Given the description of an element on the screen output the (x, y) to click on. 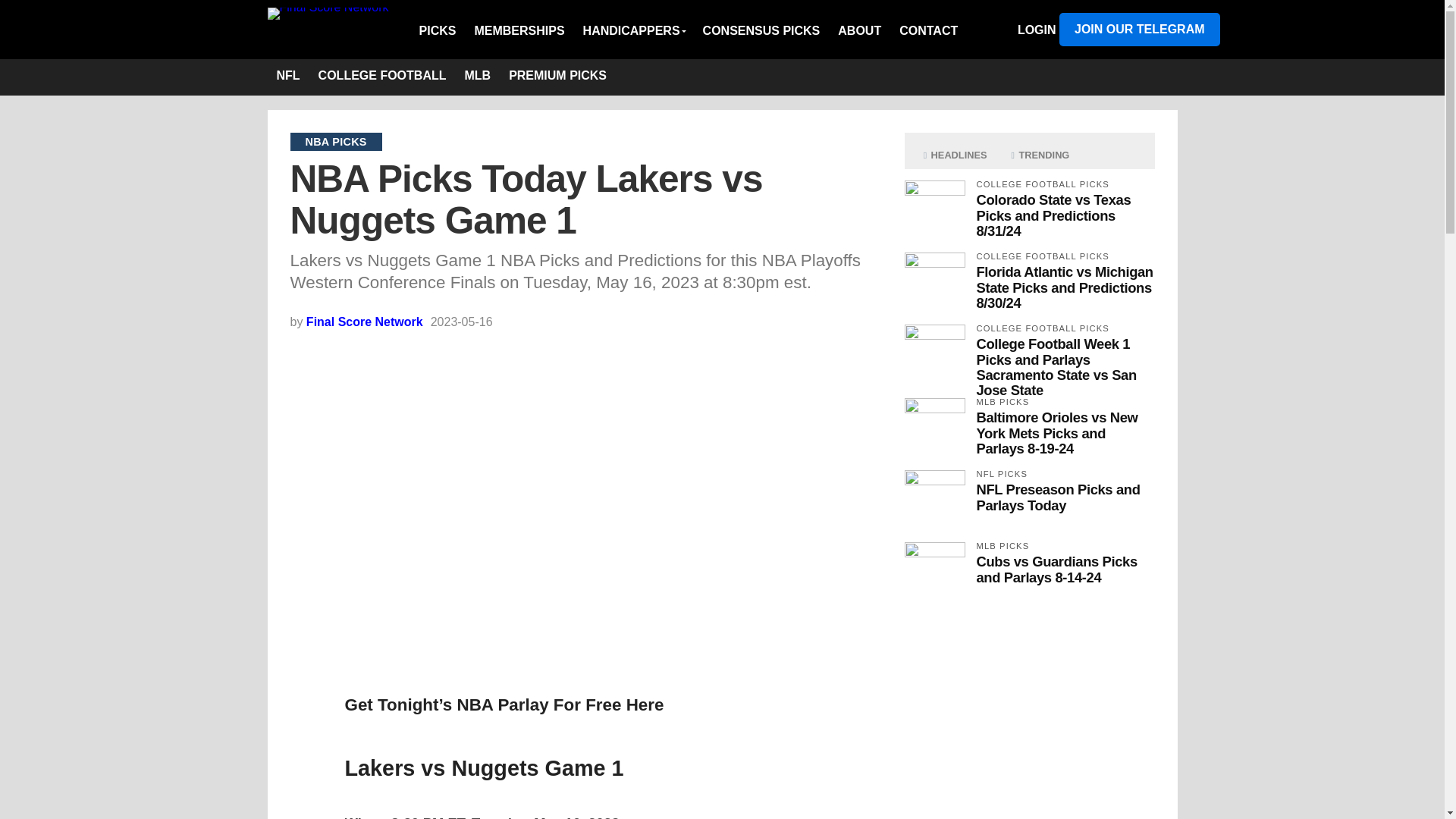
JOIN OUR TELEGRAM (1139, 29)
NFL (287, 76)
HANDICAPPERS (633, 30)
LOGIN (1037, 29)
ABOUT (858, 30)
CONTACT (927, 30)
PICKS (442, 30)
CONSENSUS PICKS (761, 30)
COLLEGE FOOTBALL (381, 76)
